Given the description of an element on the screen output the (x, y) to click on. 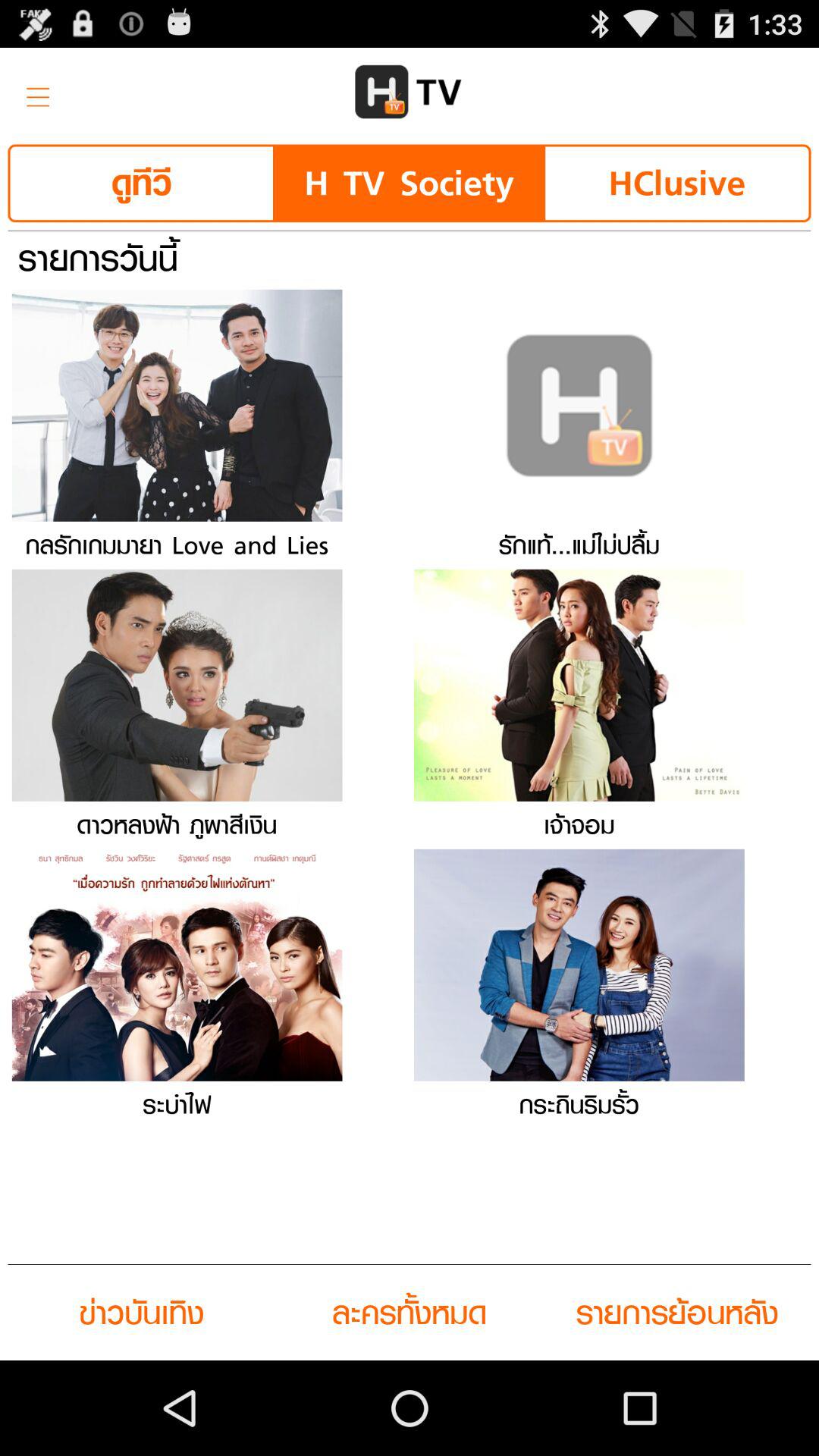
launch h tv society (409, 183)
